Given the description of an element on the screen output the (x, y) to click on. 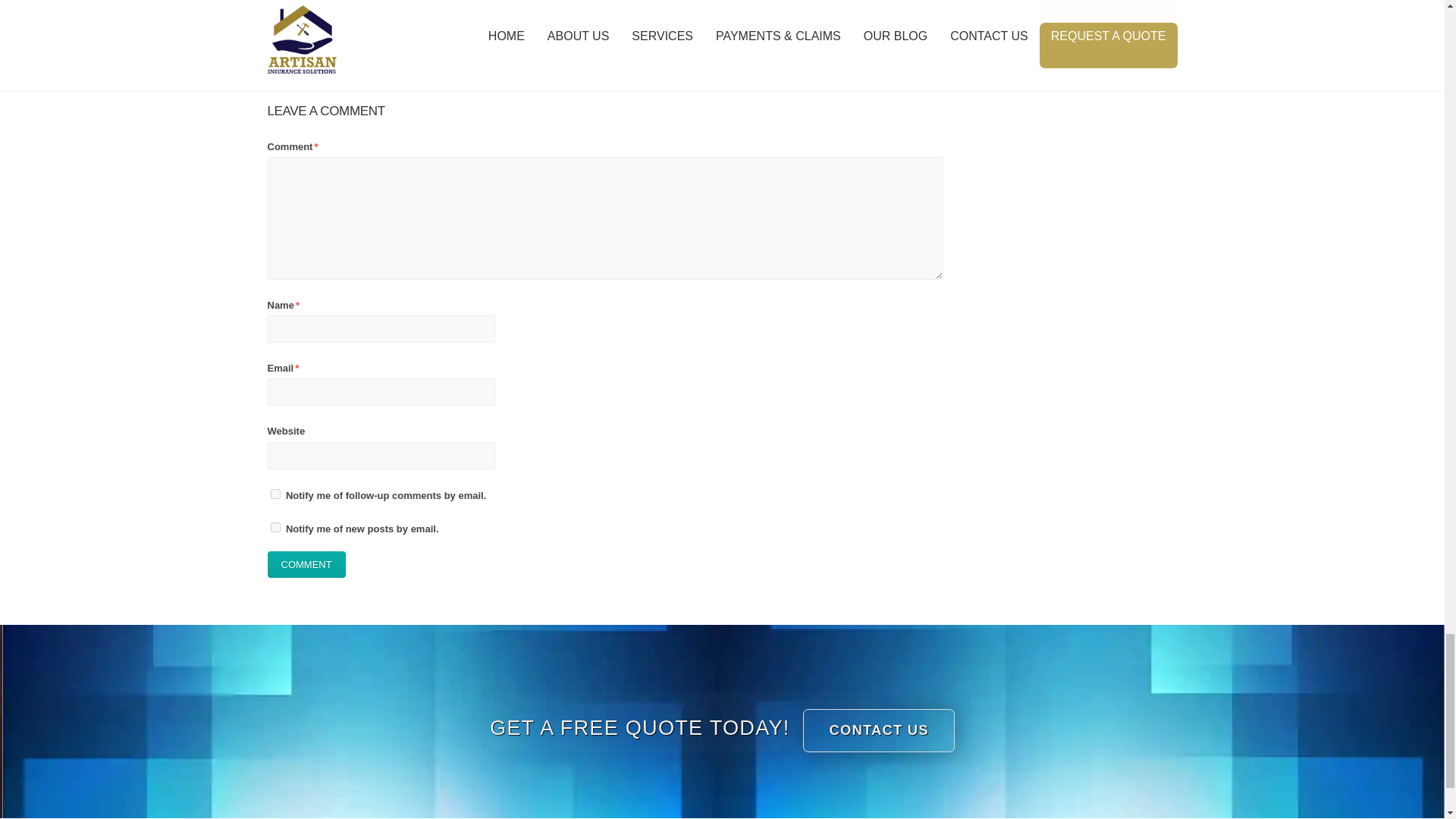
subscribe (274, 527)
Protect Your Company with Plumbing Contractors Insurance (350, 9)
Comment (305, 564)
What Does Plumbing Insurance Cover? (584, 2)
subscribe (274, 493)
